Given the description of an element on the screen output the (x, y) to click on. 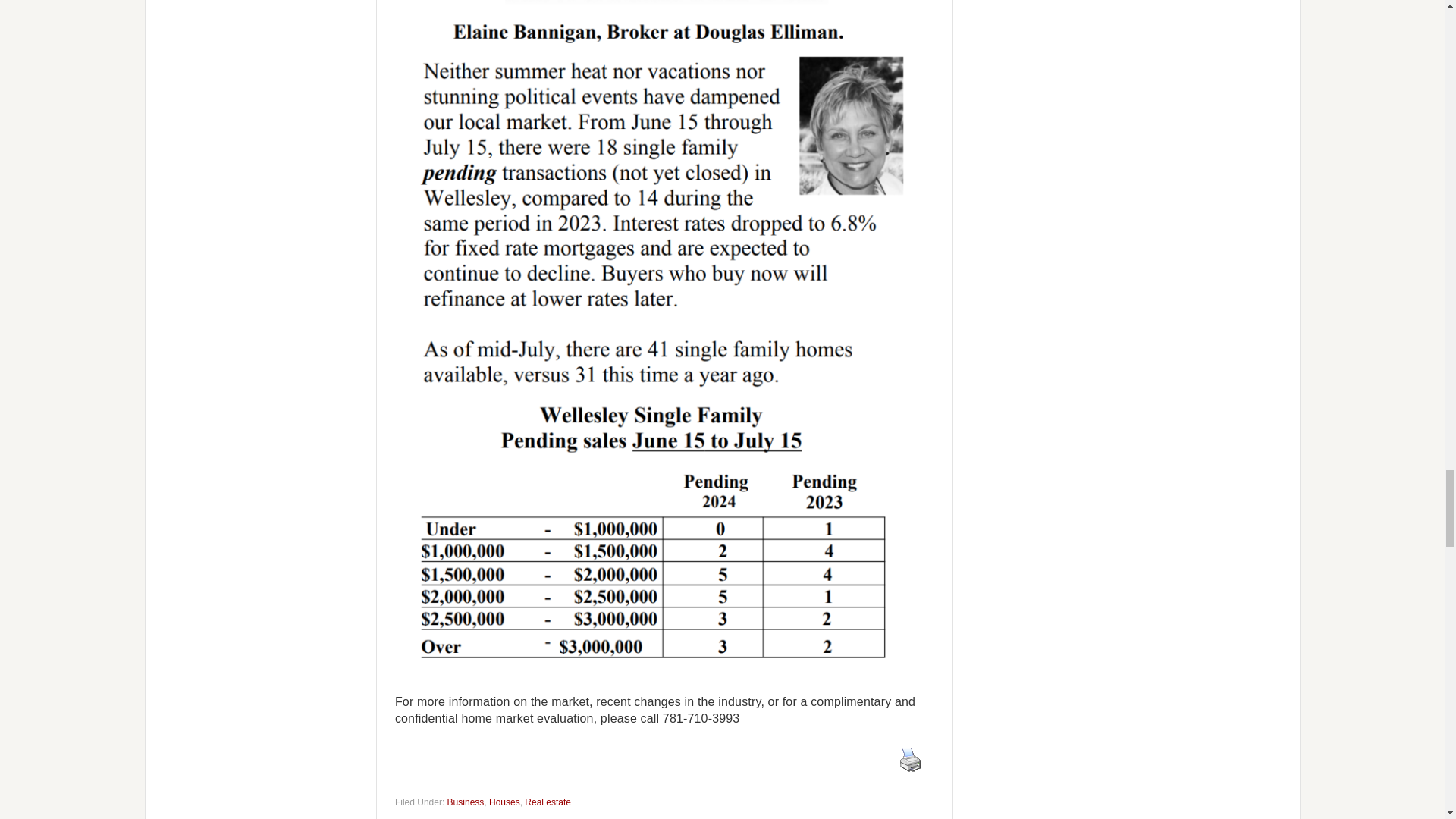
Print Content (910, 759)
